Given the description of an element on the screen output the (x, y) to click on. 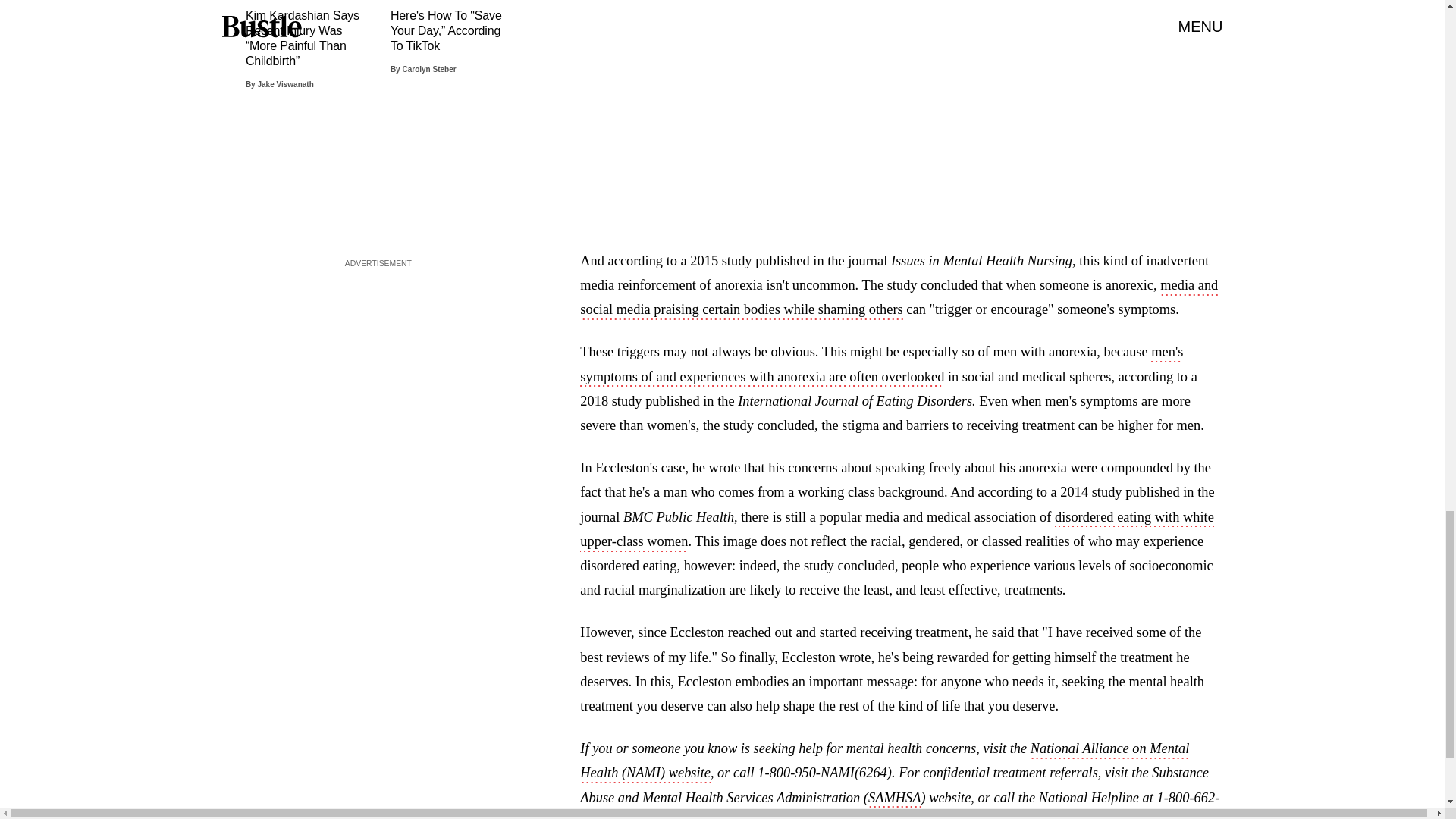
SAMHSA (893, 799)
disordered eating with white upper-class women (896, 530)
